Given the description of an element on the screen output the (x, y) to click on. 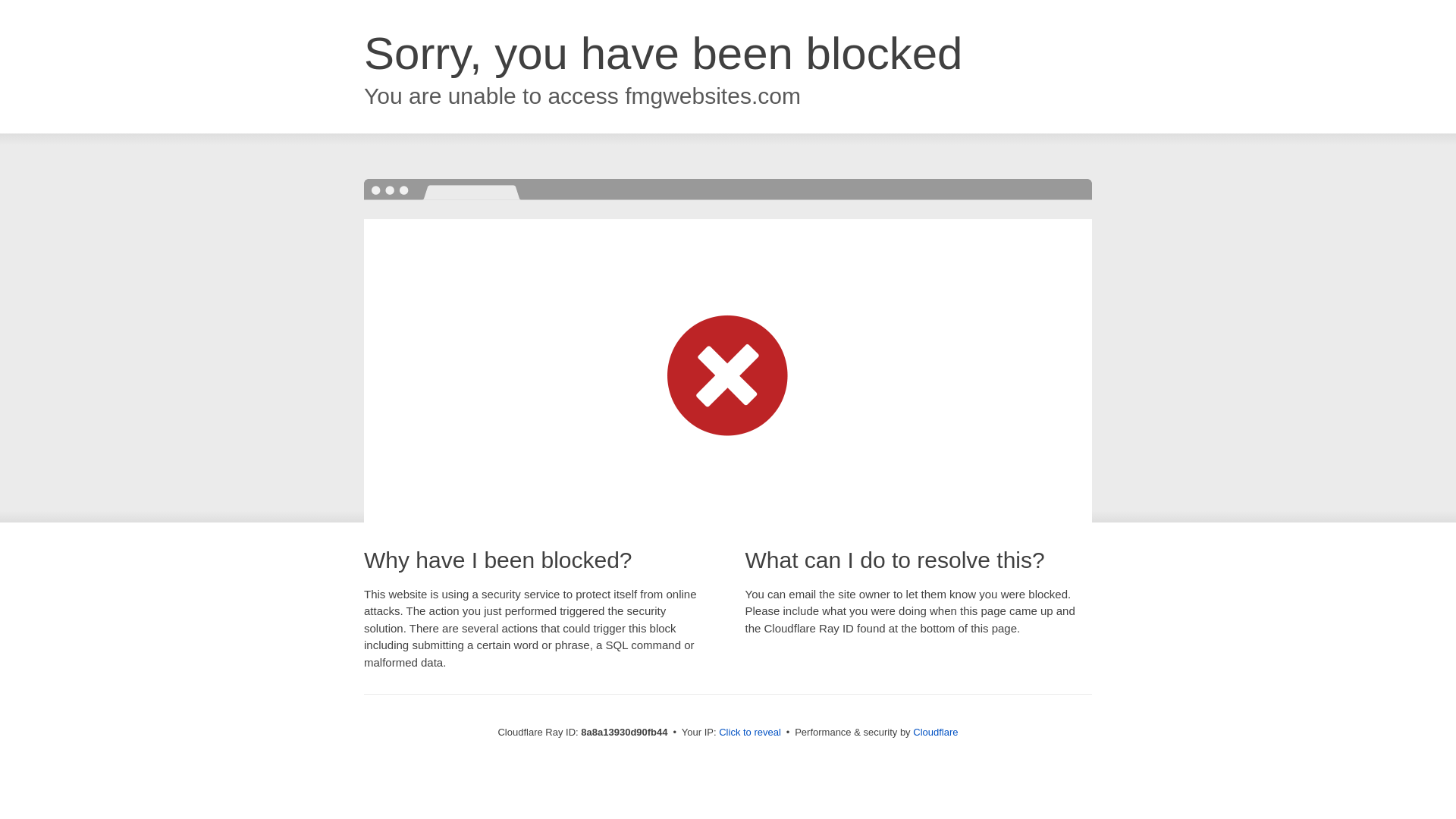
Click to reveal (749, 732)
Cloudflare (935, 731)
